Given the description of an element on the screen output the (x, y) to click on. 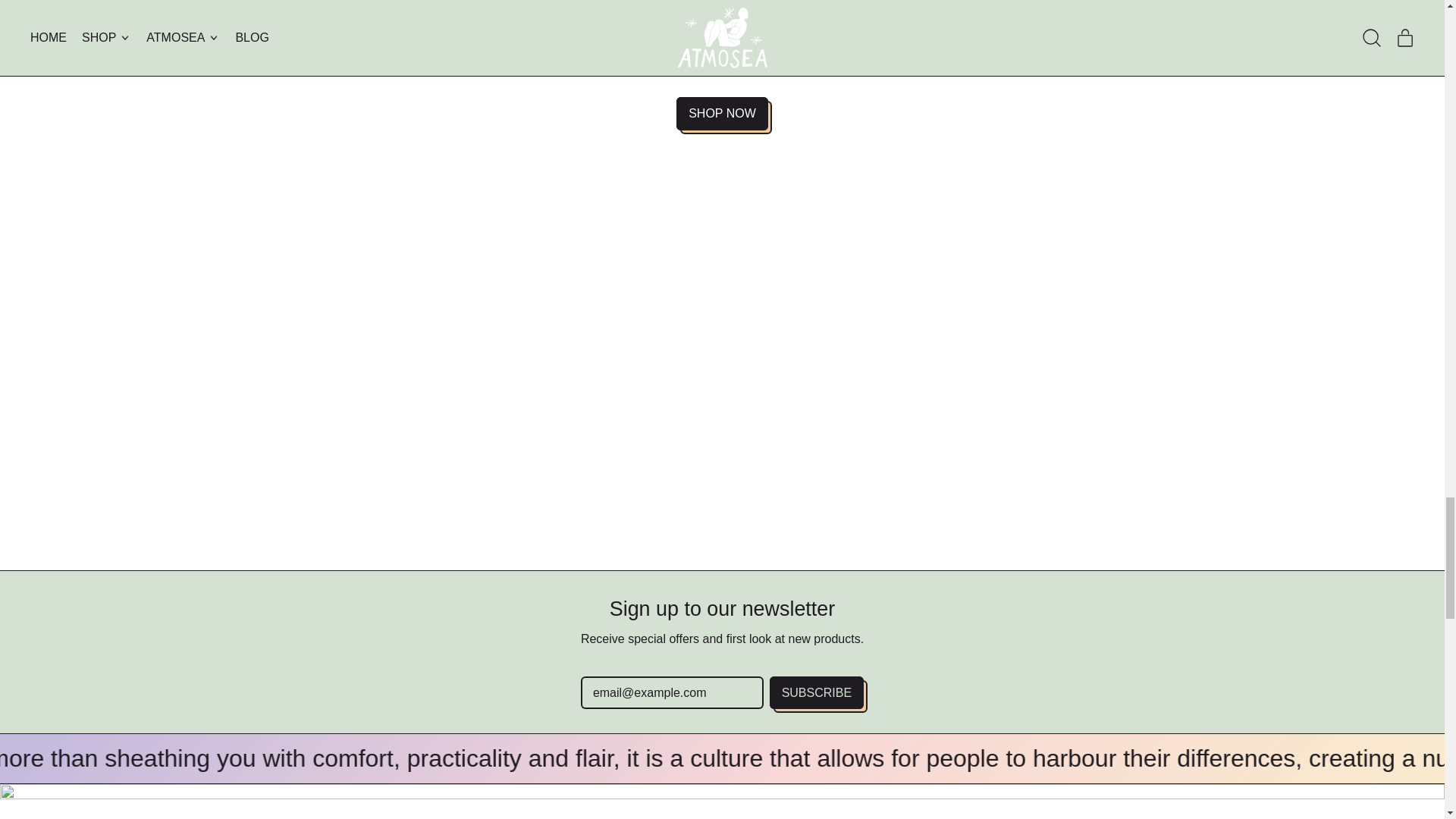
SUBSCRIBE (816, 692)
SHOP NOW (722, 113)
